Given the description of an element on the screen output the (x, y) to click on. 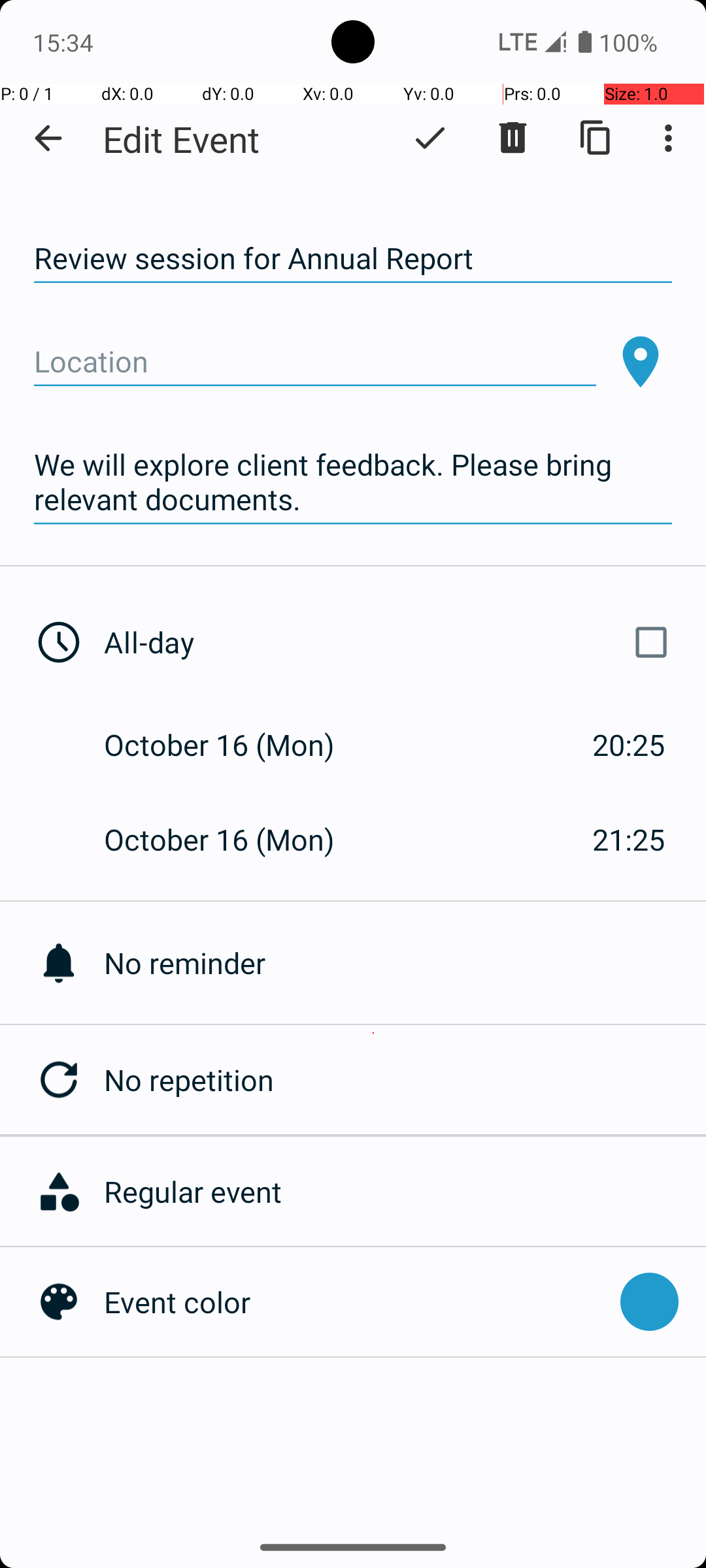
We will explore client feedback. Please bring relevant documents. Element type: android.widget.EditText (352, 482)
20:25 Element type: android.widget.TextView (628, 744)
21:25 Element type: android.widget.TextView (628, 838)
